Given the description of an element on the screen output the (x, y) to click on. 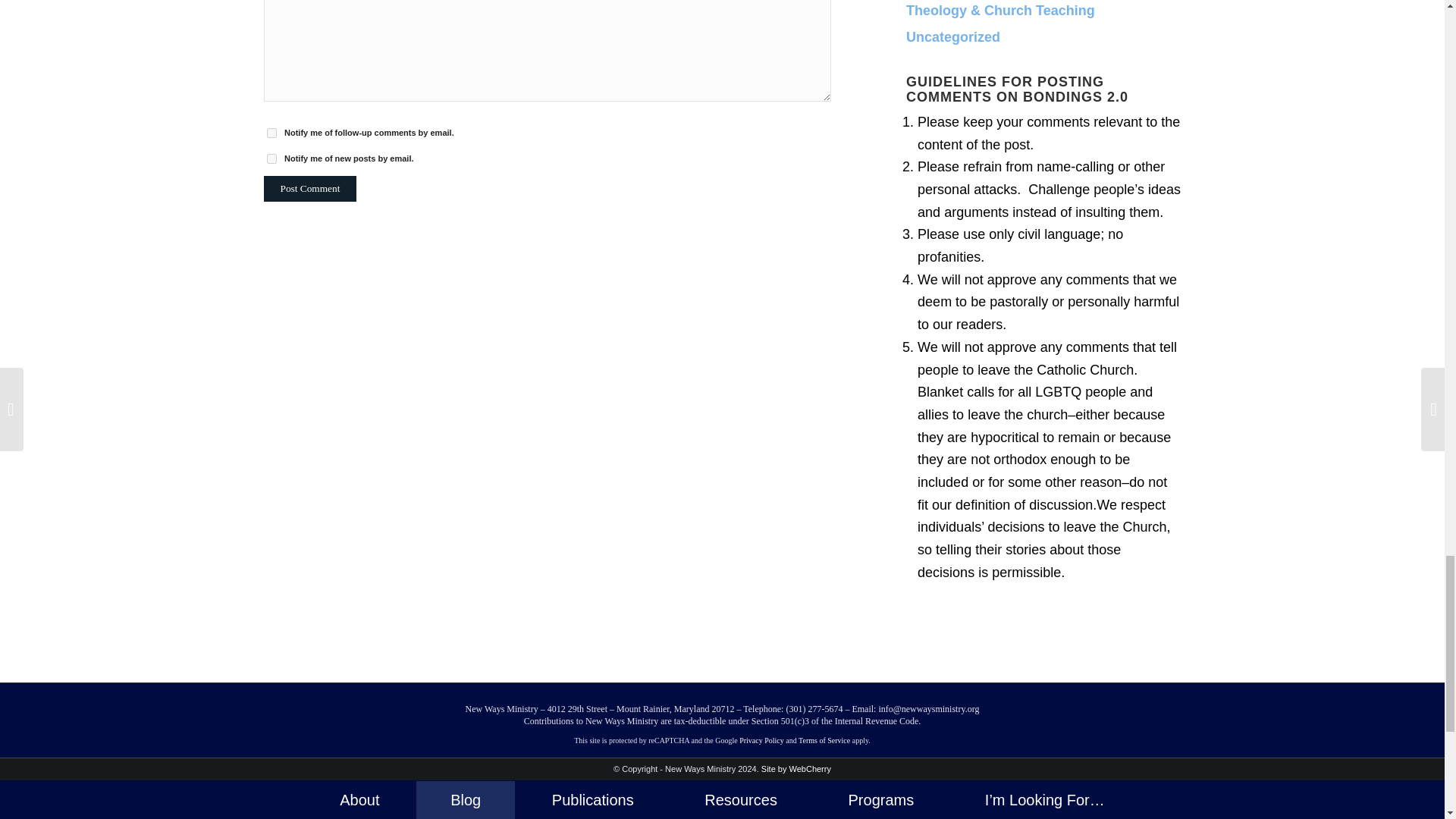
Post Comment (309, 188)
subscribe (271, 158)
subscribe (271, 132)
